Given the description of an element on the screen output the (x, y) to click on. 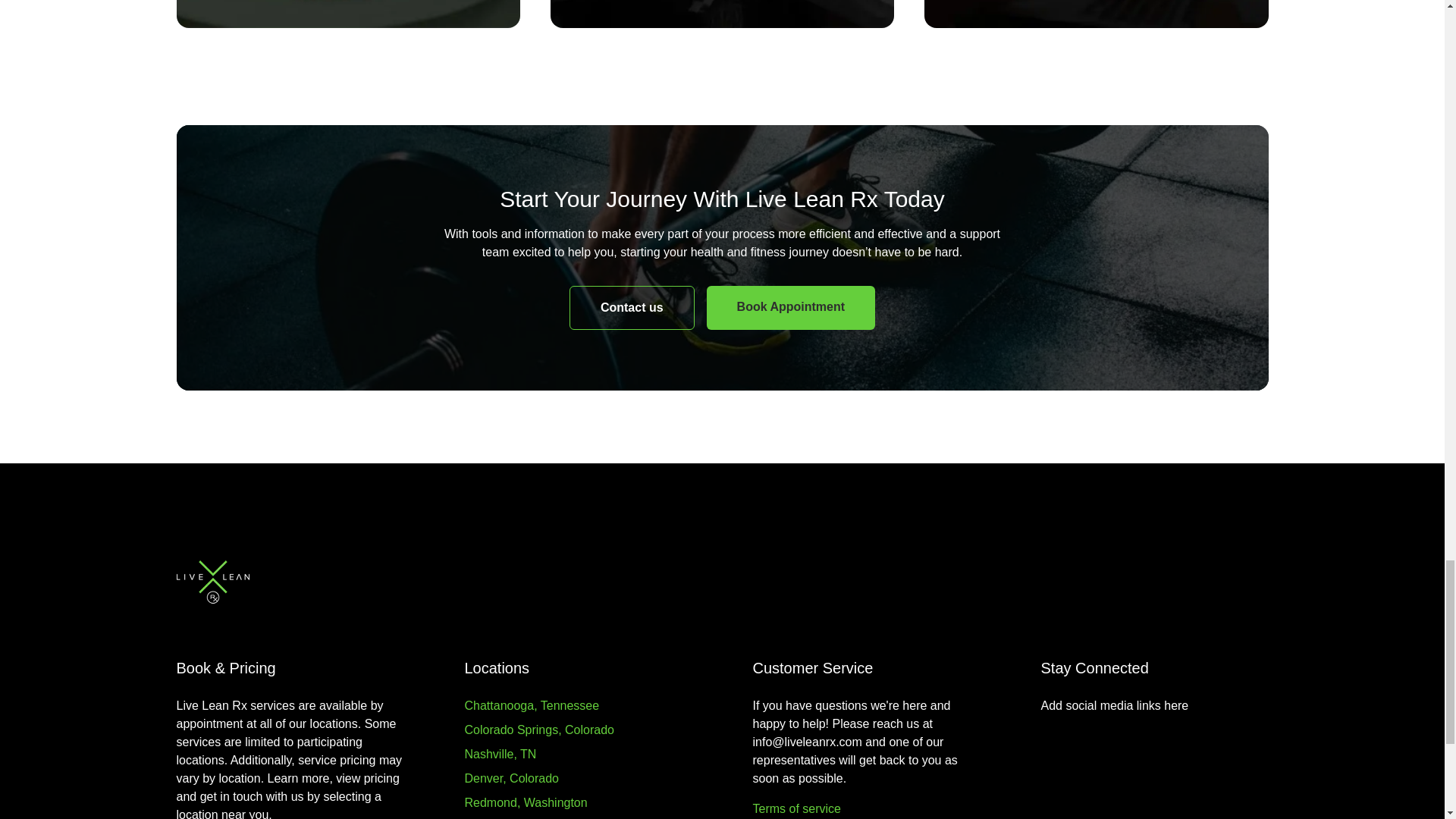
Book Appointment (791, 307)
Chattanooga, Tennessee (531, 705)
Contact us (631, 307)
